Given the description of an element on the screen output the (x, y) to click on. 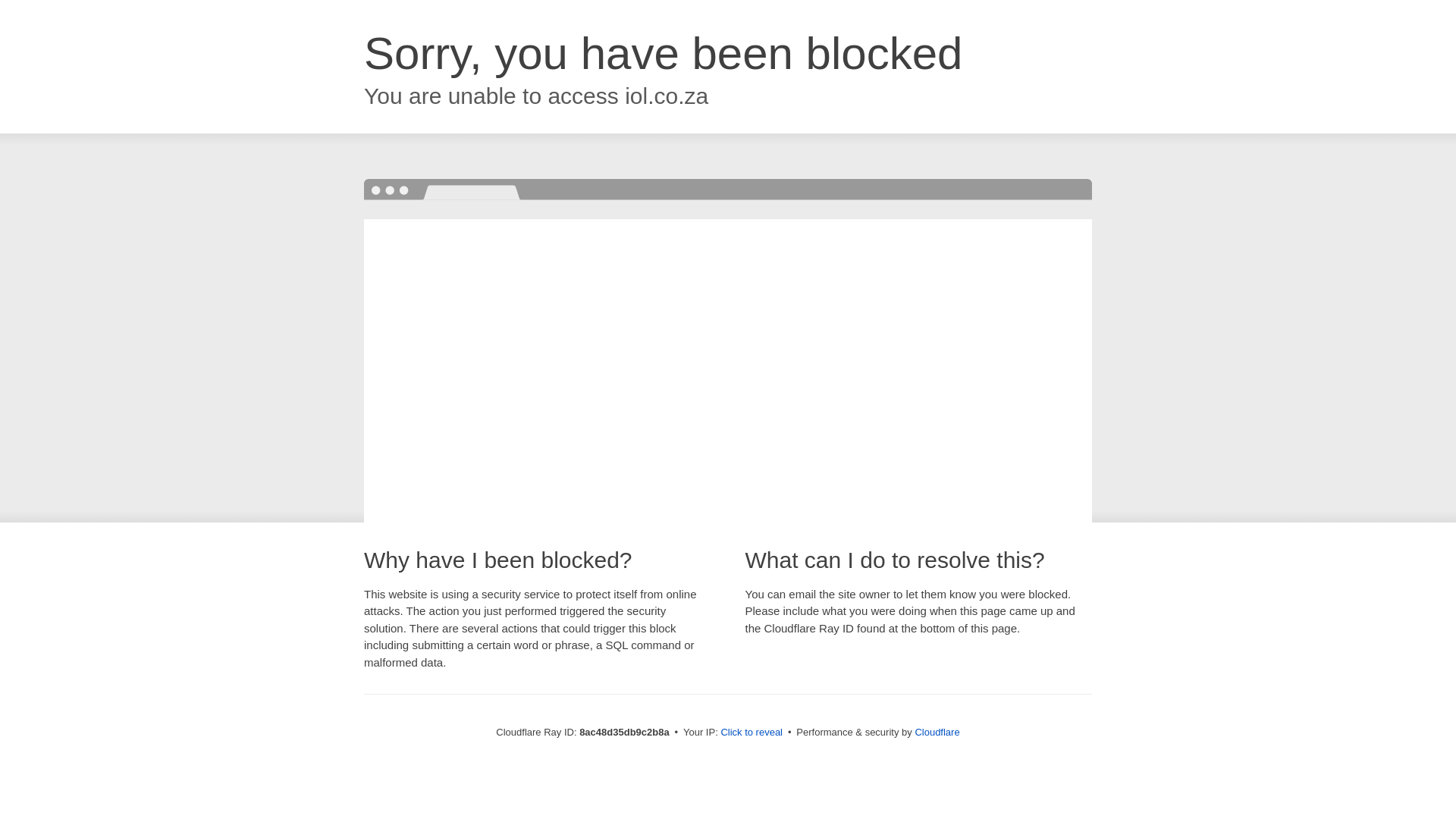
Cloudflare (936, 731)
Click to reveal (751, 732)
